Given the description of an element on the screen output the (x, y) to click on. 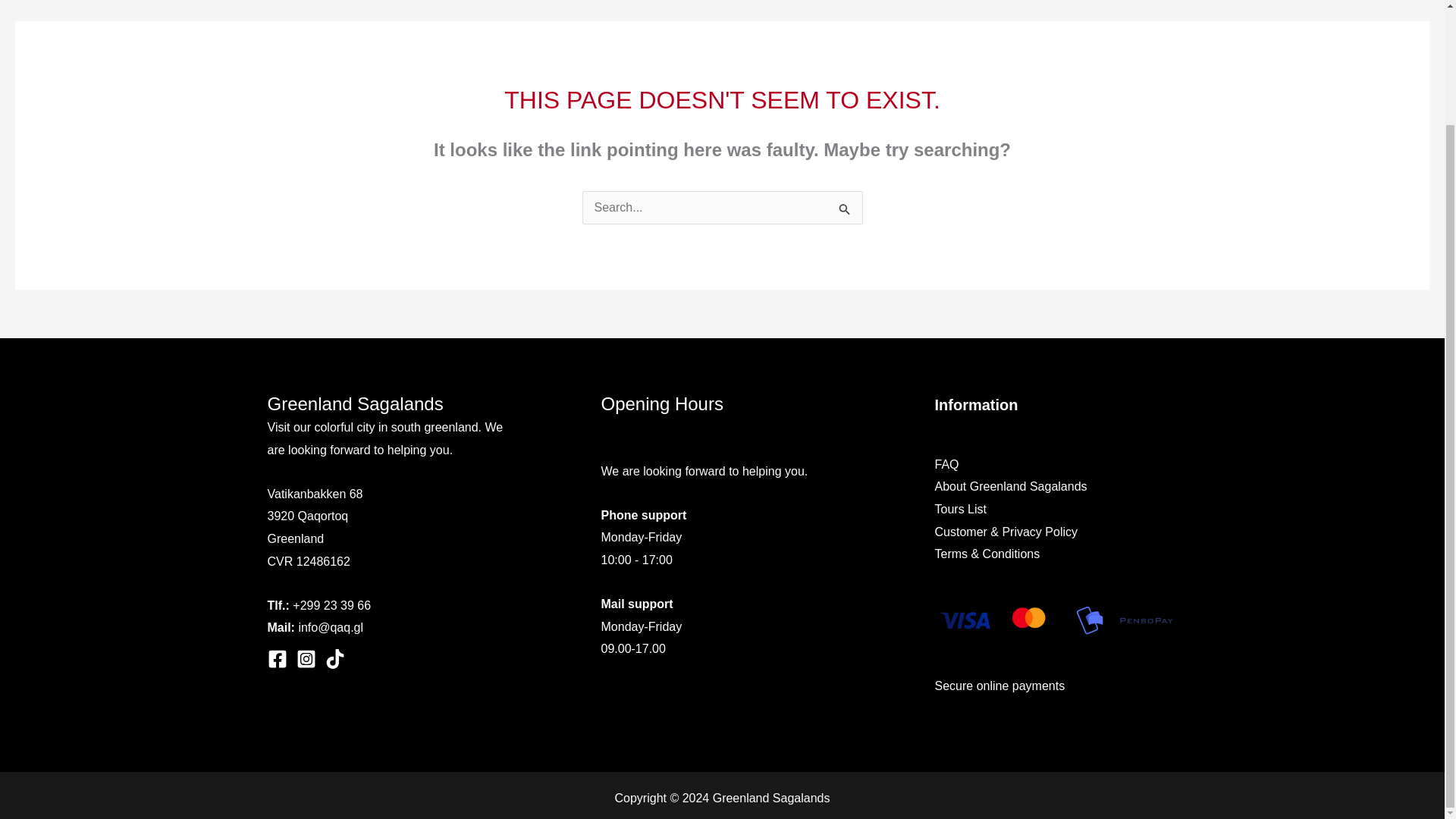
About Greenland Sagalands (1010, 486)
FAQ (946, 463)
Tours List (959, 508)
